Given the description of an element on the screen output the (x, y) to click on. 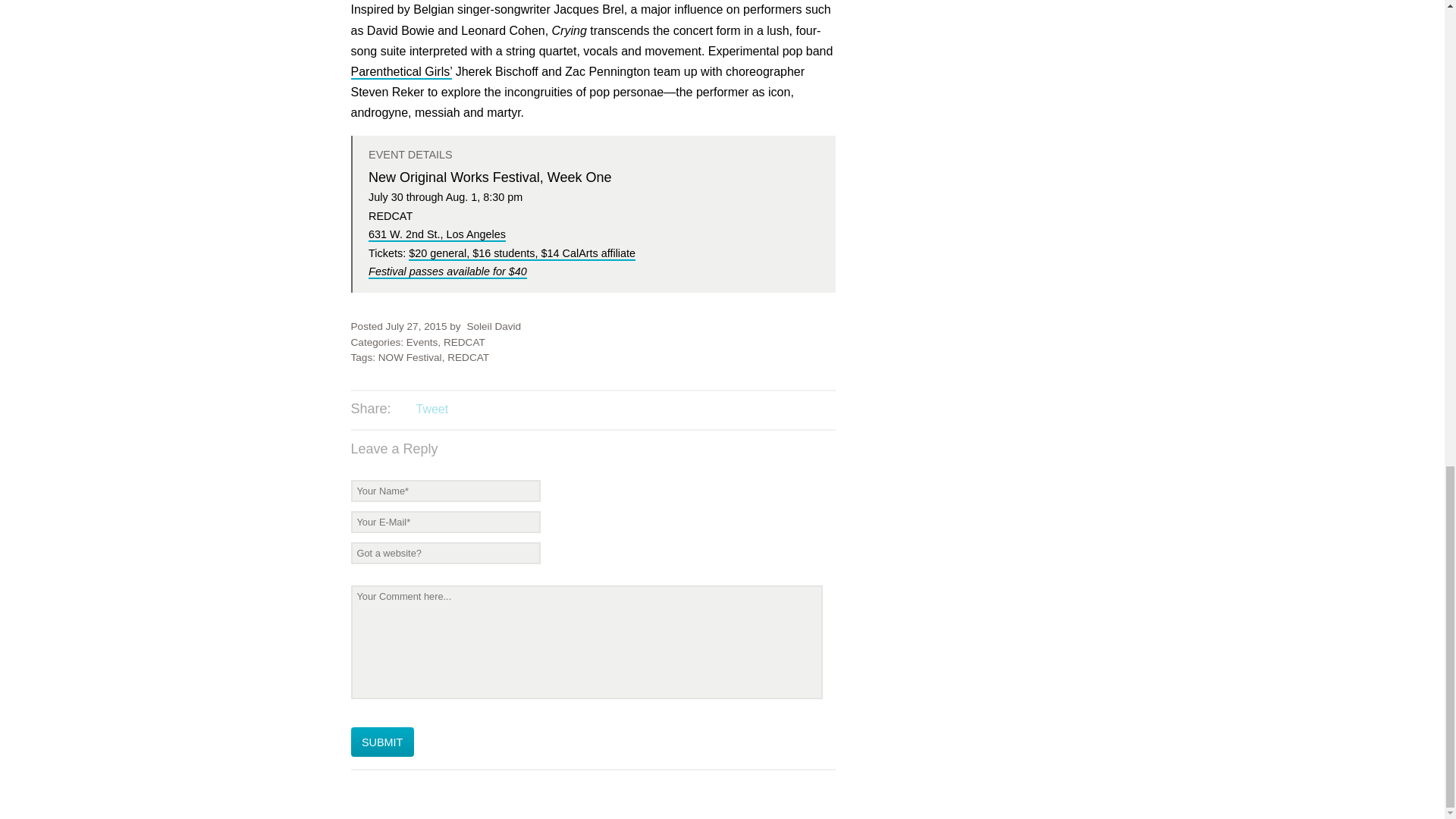
Share on Tumblr (493, 409)
Submit (381, 741)
NOW Festival (410, 357)
Events (422, 342)
REDCAT (464, 342)
Tweet (431, 408)
Submit (381, 741)
Share on Tumblr (493, 409)
631 W. 2nd St., Los Angeles (436, 234)
Soleil David (493, 326)
